Given the description of an element on the screen output the (x, y) to click on. 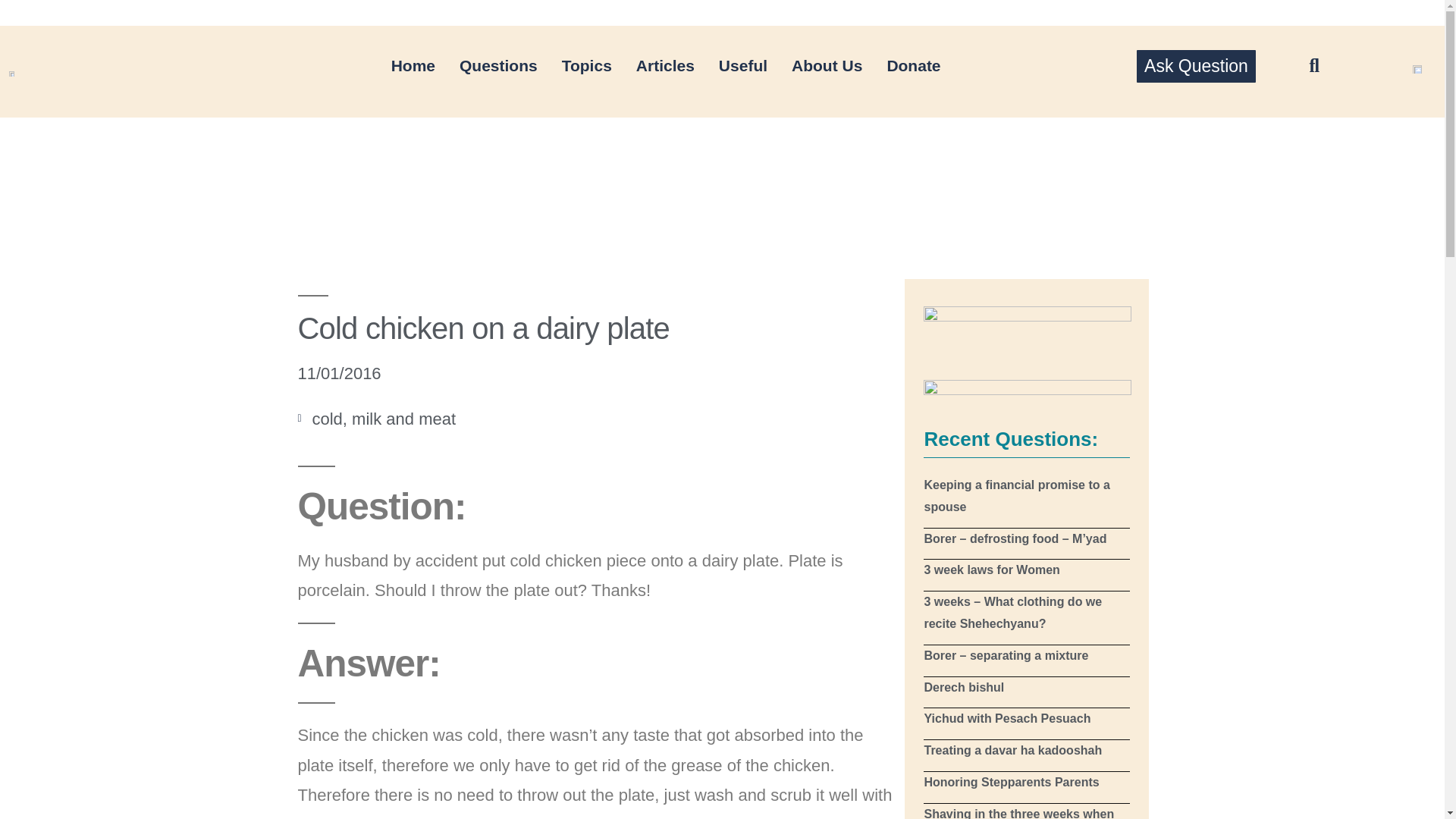
Ask Question (1196, 65)
Useful (742, 65)
Donate (913, 65)
Topics (587, 65)
About Us (826, 65)
cold (327, 418)
milk and meat (403, 418)
Articles (665, 65)
Home (412, 65)
Questions (498, 65)
